Given the description of an element on the screen output the (x, y) to click on. 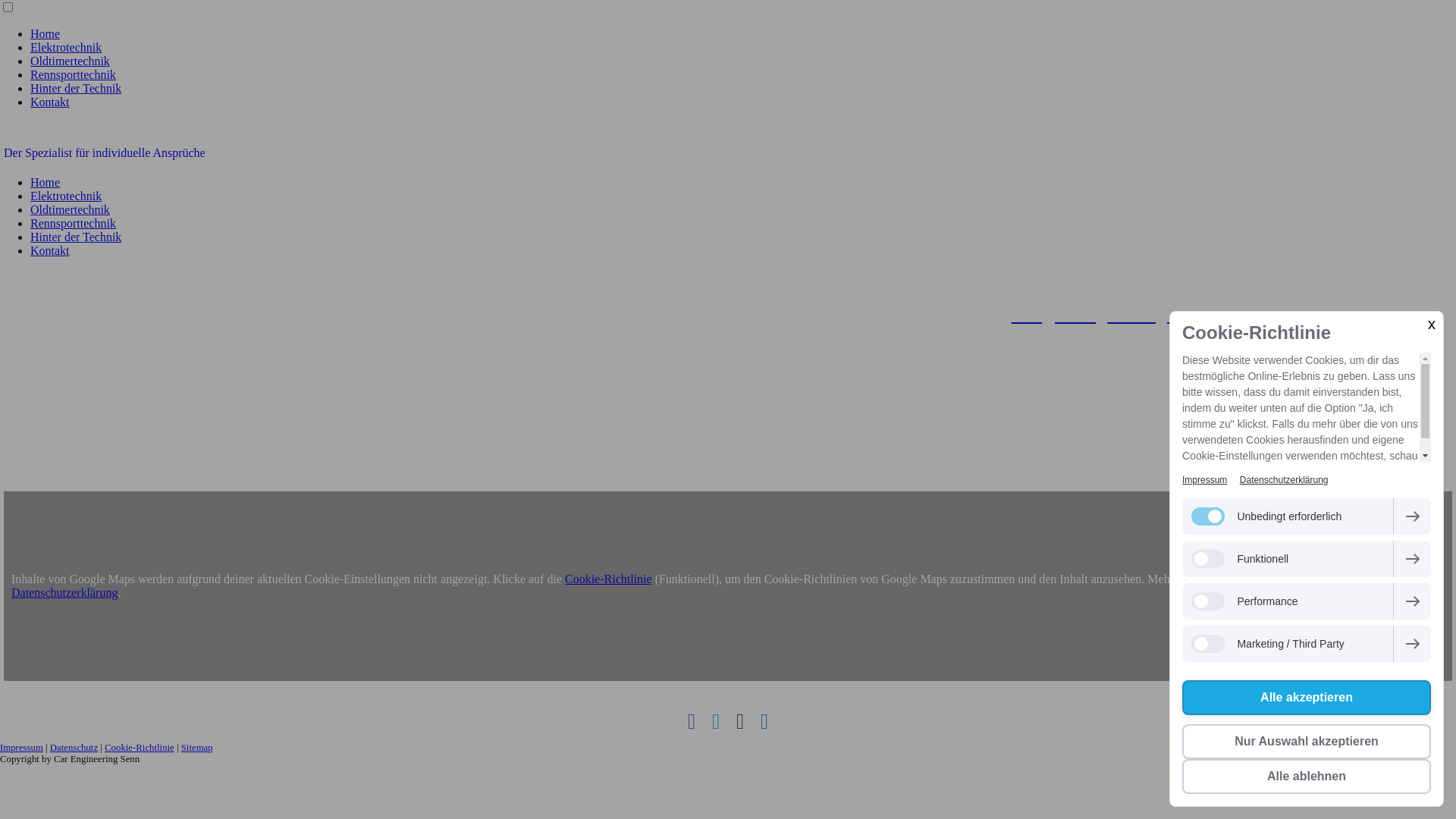
Alle akzeptieren Element type: text (1306, 697)
LinkedIn Element type: hover (764, 721)
Oldtimertechnik Element type: text (69, 60)
Datenschutz Element type: text (73, 747)
info@carengineering.ch Element type: text (1099, 314)
Sitemap Element type: text (197, 747)
Alle ablehnen Element type: text (1306, 776)
Elektrotechnik Element type: text (65, 195)
Twitter Element type: hover (715, 721)
Kontakt Element type: text (49, 101)
Hinter der Technik Element type: text (75, 236)
Kontakt Element type: text (49, 250)
Cookie-Richtlinie Element type: text (608, 578)
Elektrotechnik Element type: text (65, 46)
Home Element type: text (44, 33)
Rennsporttechnik Element type: text (73, 222)
Hinter der Technik Element type: text (75, 87)
Cookie-Richtlinie Element type: text (139, 747)
E-Mail Element type: hover (739, 721)
Home Element type: text (44, 181)
Rennsporttechnik Element type: text (73, 74)
Oldtimertechnik Element type: text (69, 209)
Nur Auswahl akzeptieren Element type: text (1306, 741)
Impressum Element type: text (21, 747)
Impressum Element type: text (1204, 479)
Facebook Element type: hover (691, 721)
